Given the description of an element on the screen output the (x, y) to click on. 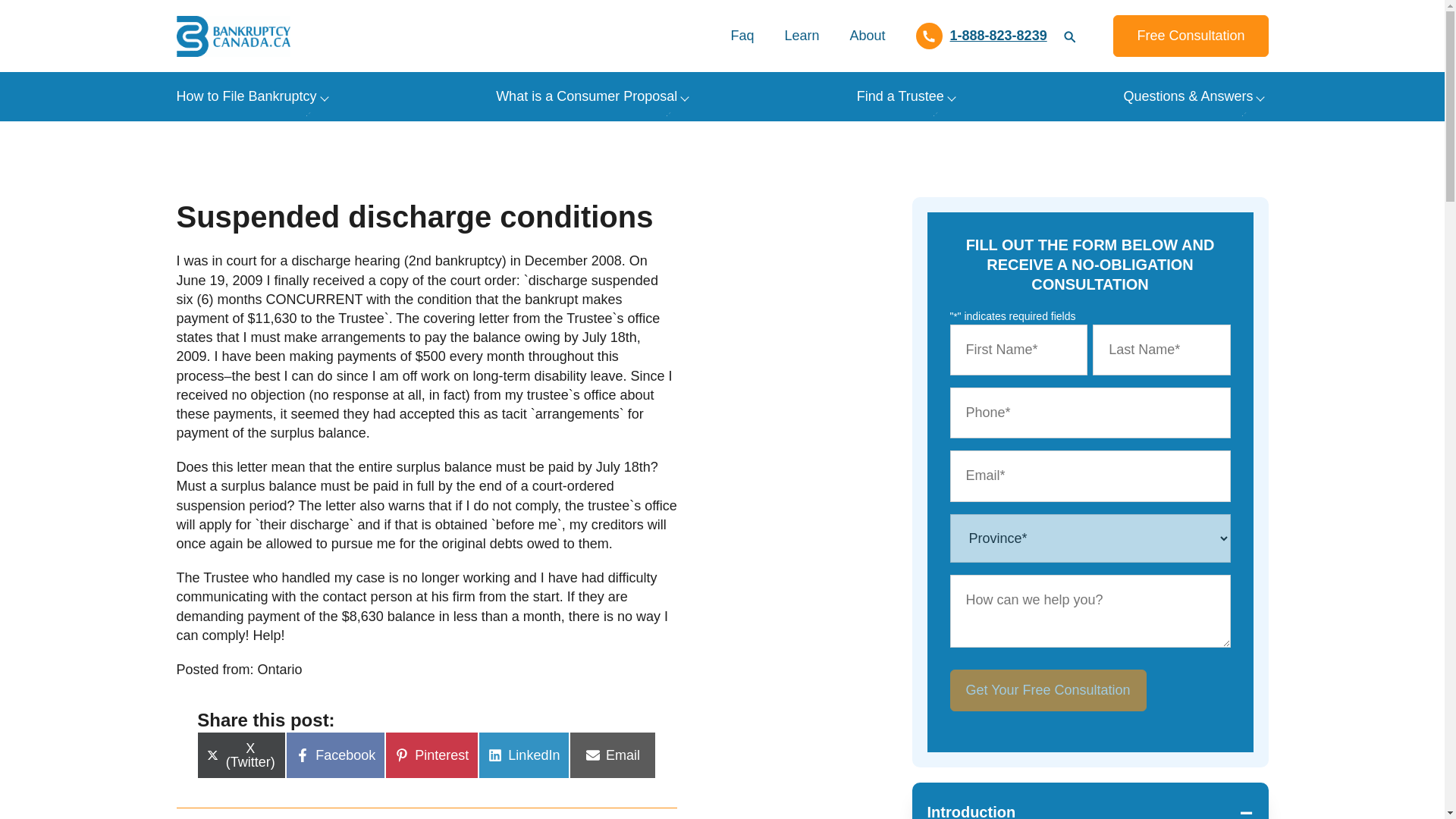
How to File Bankruptcy (245, 96)
What is a Consumer Proposal (586, 96)
About (866, 35)
Free Consultation (1190, 35)
Learn (801, 35)
Get Your Free Consultation (1047, 690)
Faq (741, 35)
1-888-823-8239 (980, 35)
